Given the description of an element on the screen output the (x, y) to click on. 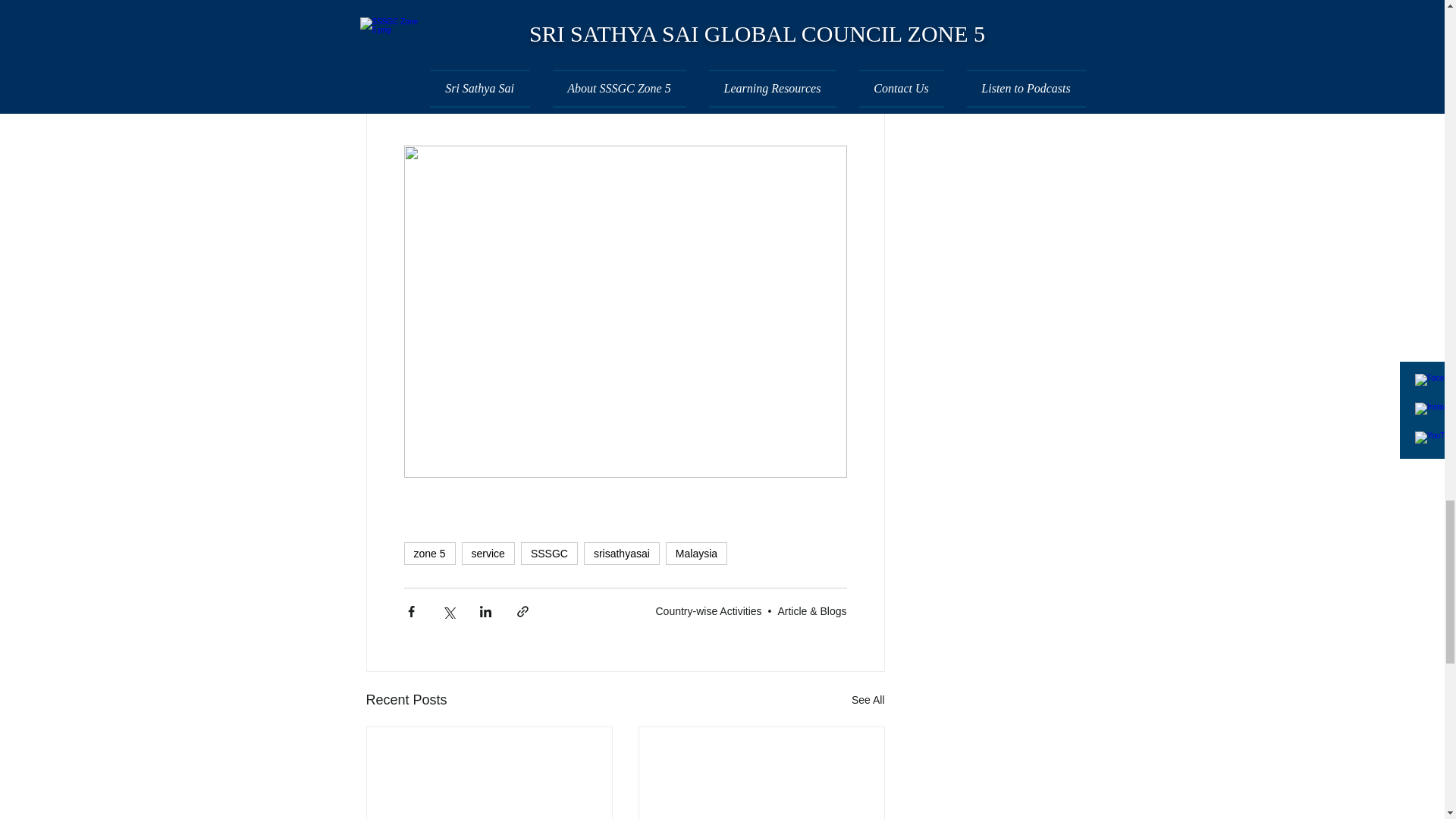
Country-wise Activities (708, 611)
zone 5 (428, 553)
Malaysia (695, 553)
SSSGC (549, 553)
service (488, 553)
srisathyasai (621, 553)
See All (868, 700)
